Given the description of an element on the screen output the (x, y) to click on. 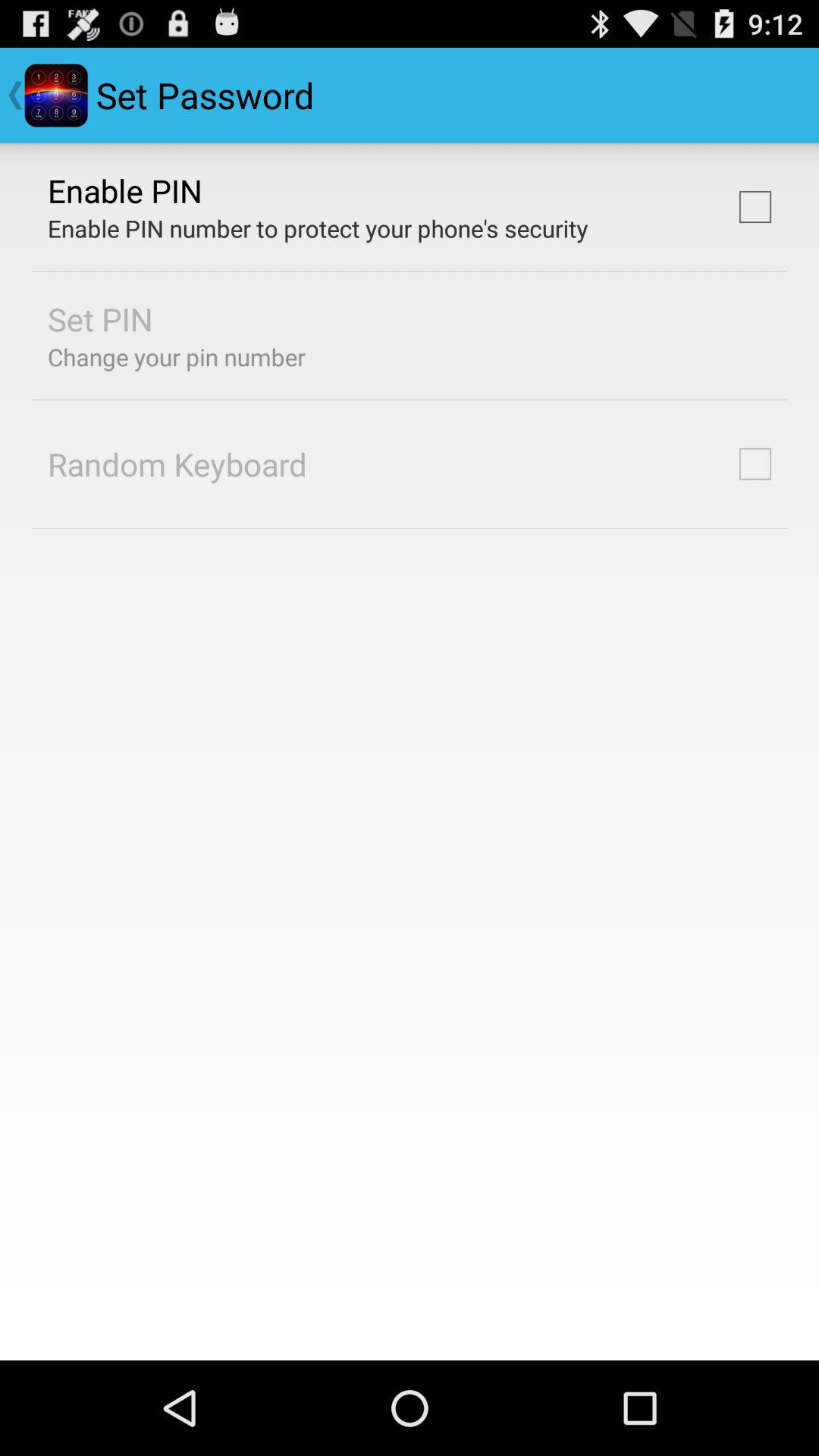
click random keyboard (177, 463)
